Given the description of an element on the screen output the (x, y) to click on. 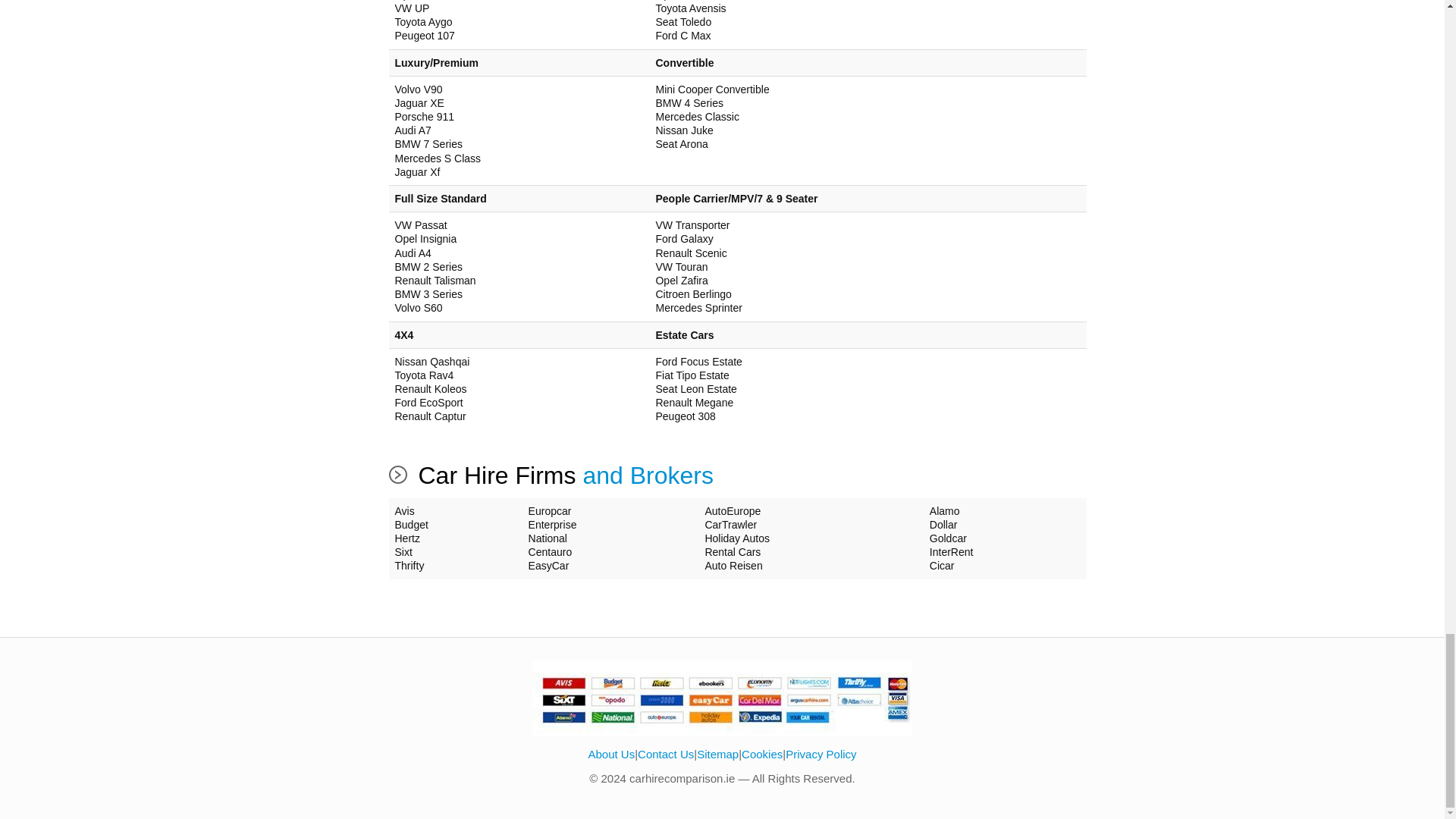
Cookies (762, 753)
Privacy Policy (821, 753)
About Us (611, 753)
Contact Us (665, 753)
Sitemap (717, 753)
